Given the description of an element on the screen output the (x, y) to click on. 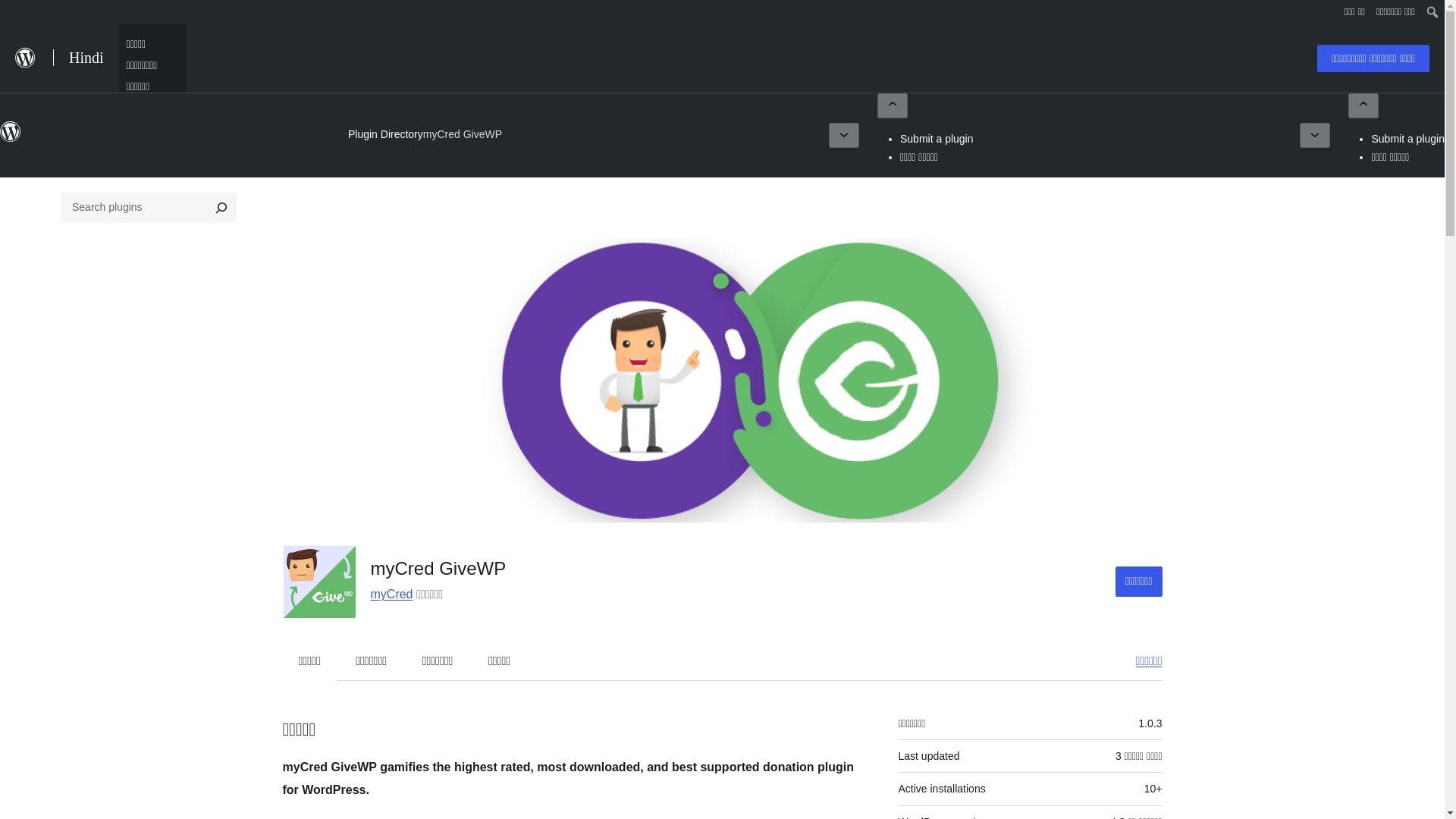
myCred GiveWP (462, 135)
WordPress.org (10, 138)
myCred (390, 594)
WordPress.org (10, 131)
Submit a plugin (936, 138)
Plugin Directory (385, 133)
